Given the description of an element on the screen output the (x, y) to click on. 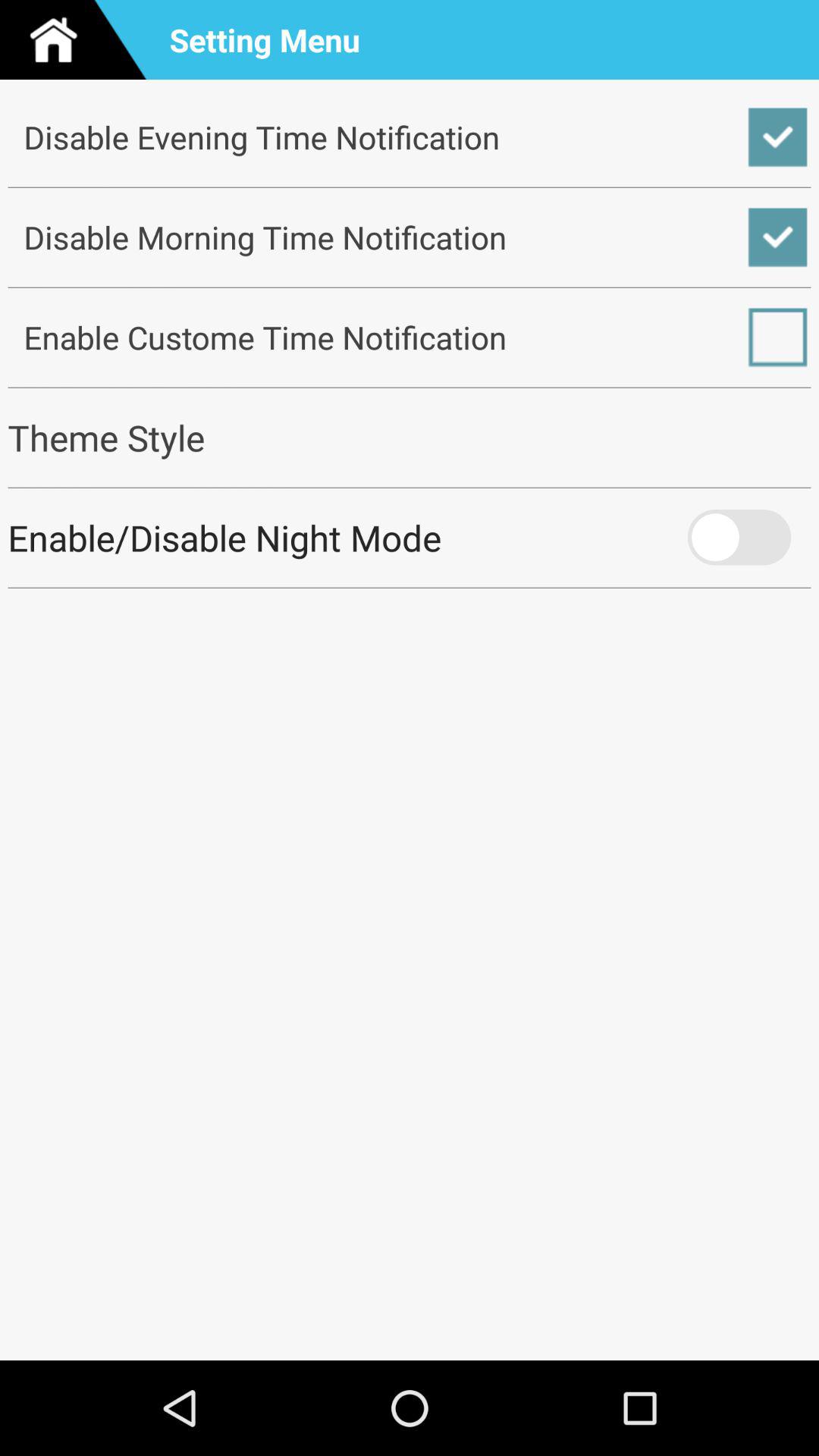
turn off the theme style app (409, 437)
